Given the description of an element on the screen output the (x, y) to click on. 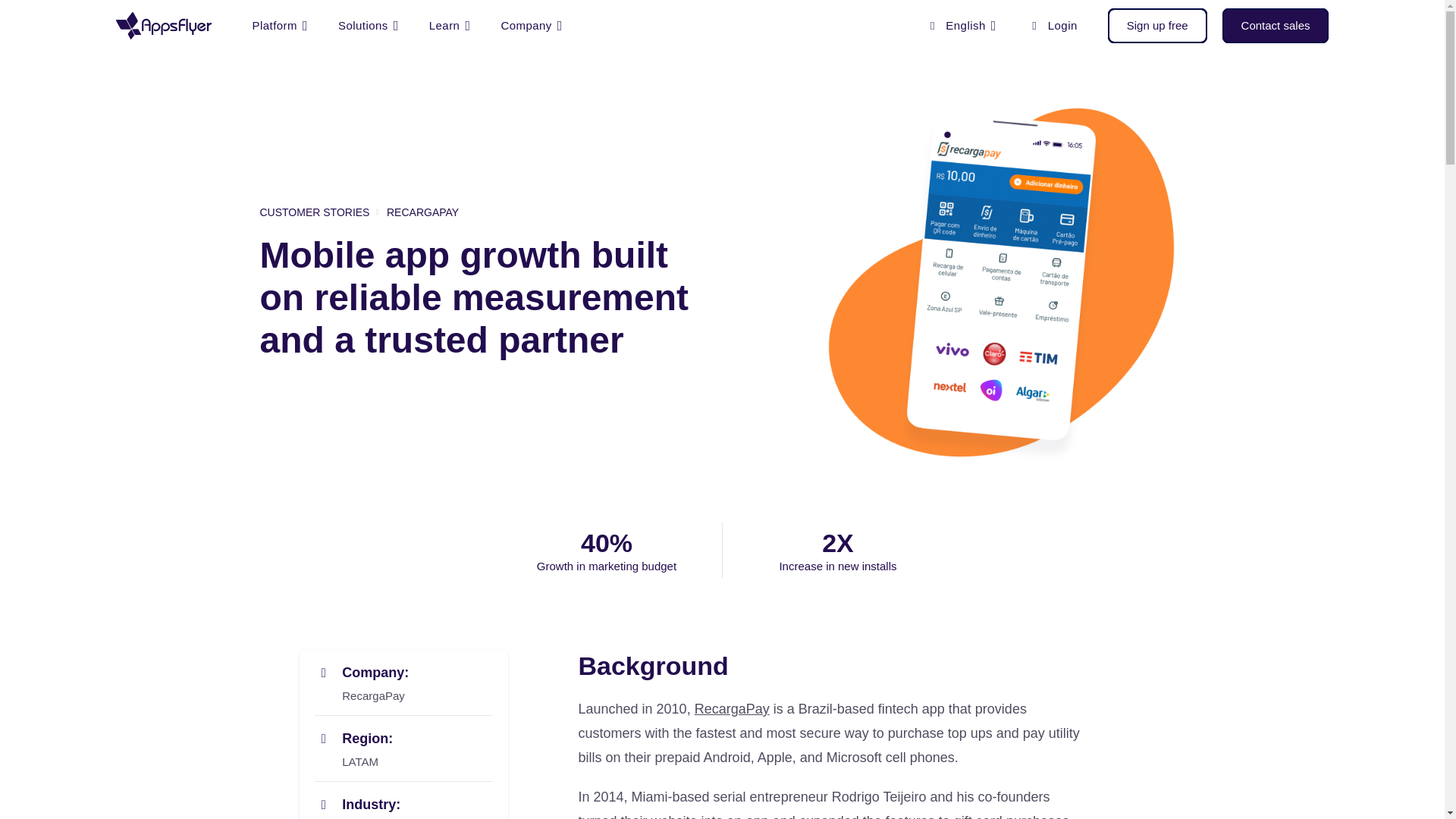
Platform (278, 25)
Platform (278, 25)
Solutions (368, 25)
Solutions (368, 25)
